Given the description of an element on the screen output the (x, y) to click on. 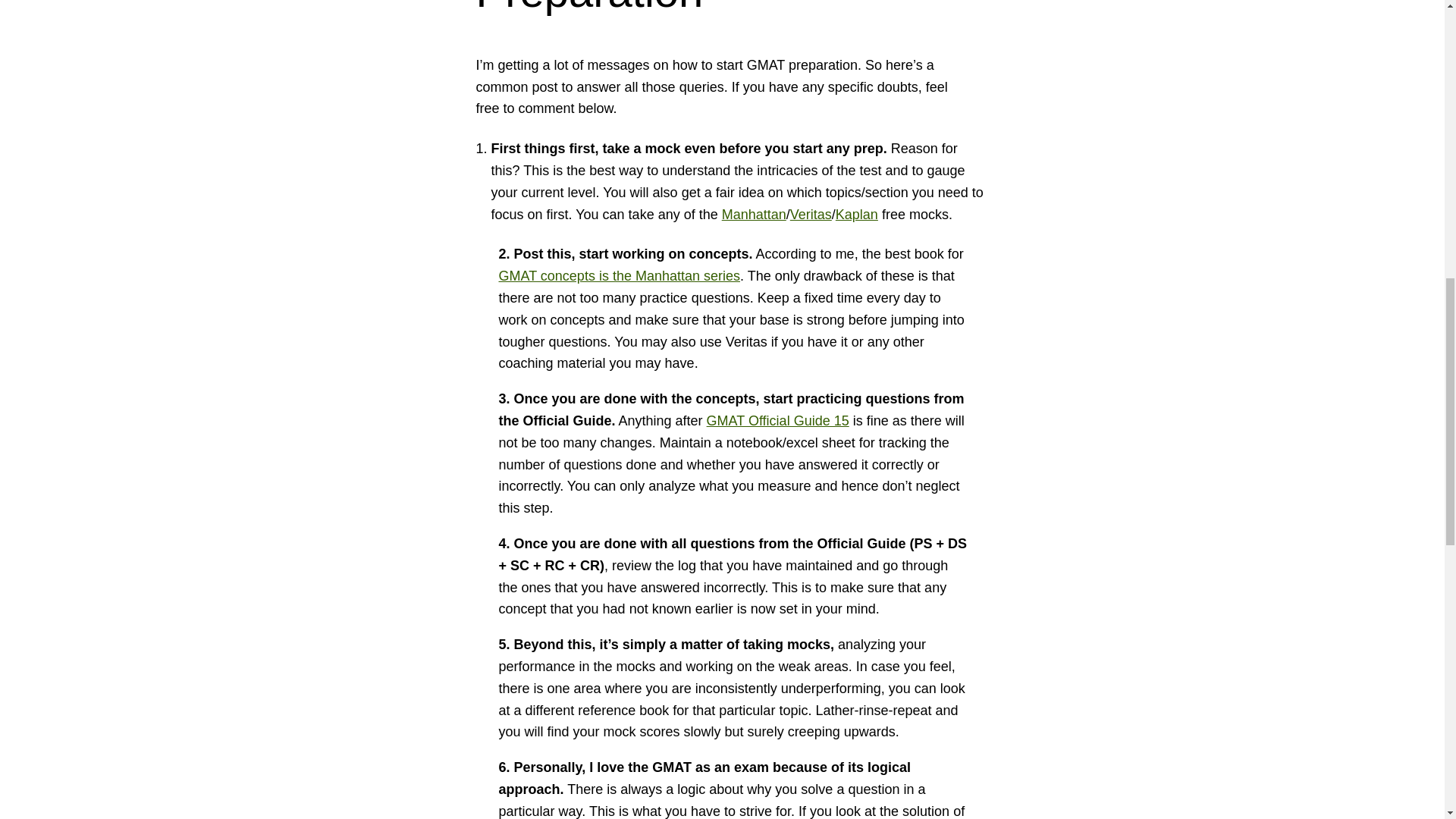
GMAT Official Guide 15 (777, 420)
Kaplan (856, 214)
Veritas (810, 214)
GMAT concepts is the Manhattan series (619, 275)
Manhattan (754, 214)
